Given the description of an element on the screen output the (x, y) to click on. 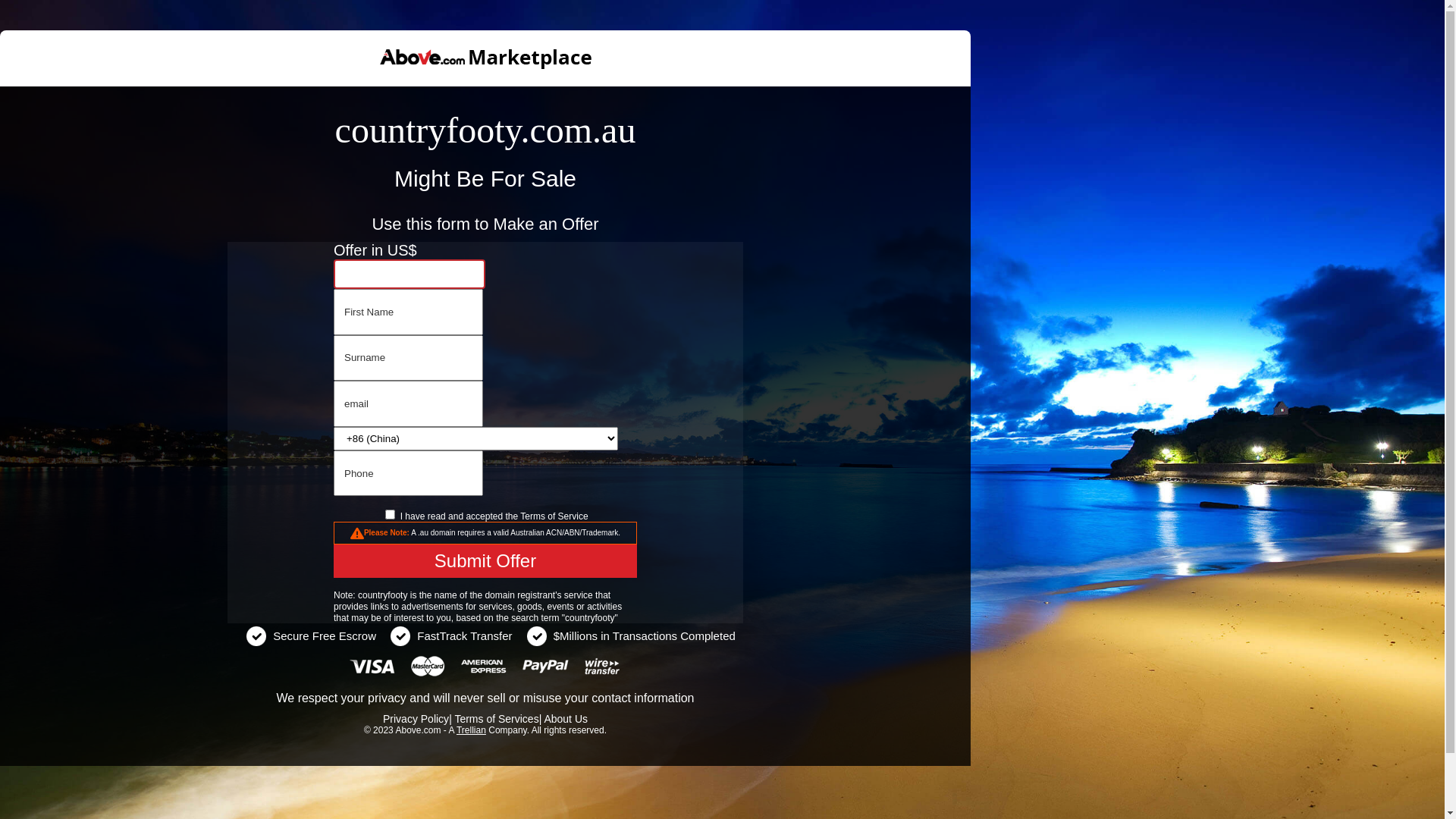
Privacy Policy Element type: text (415, 718)
About Us Element type: text (565, 718)
Trellian Element type: text (471, 729)
Terms of Services Element type: text (496, 718)
Submit Offer Element type: text (485, 560)
Terms Element type: text (532, 516)
